Given the description of an element on the screen output the (x, y) to click on. 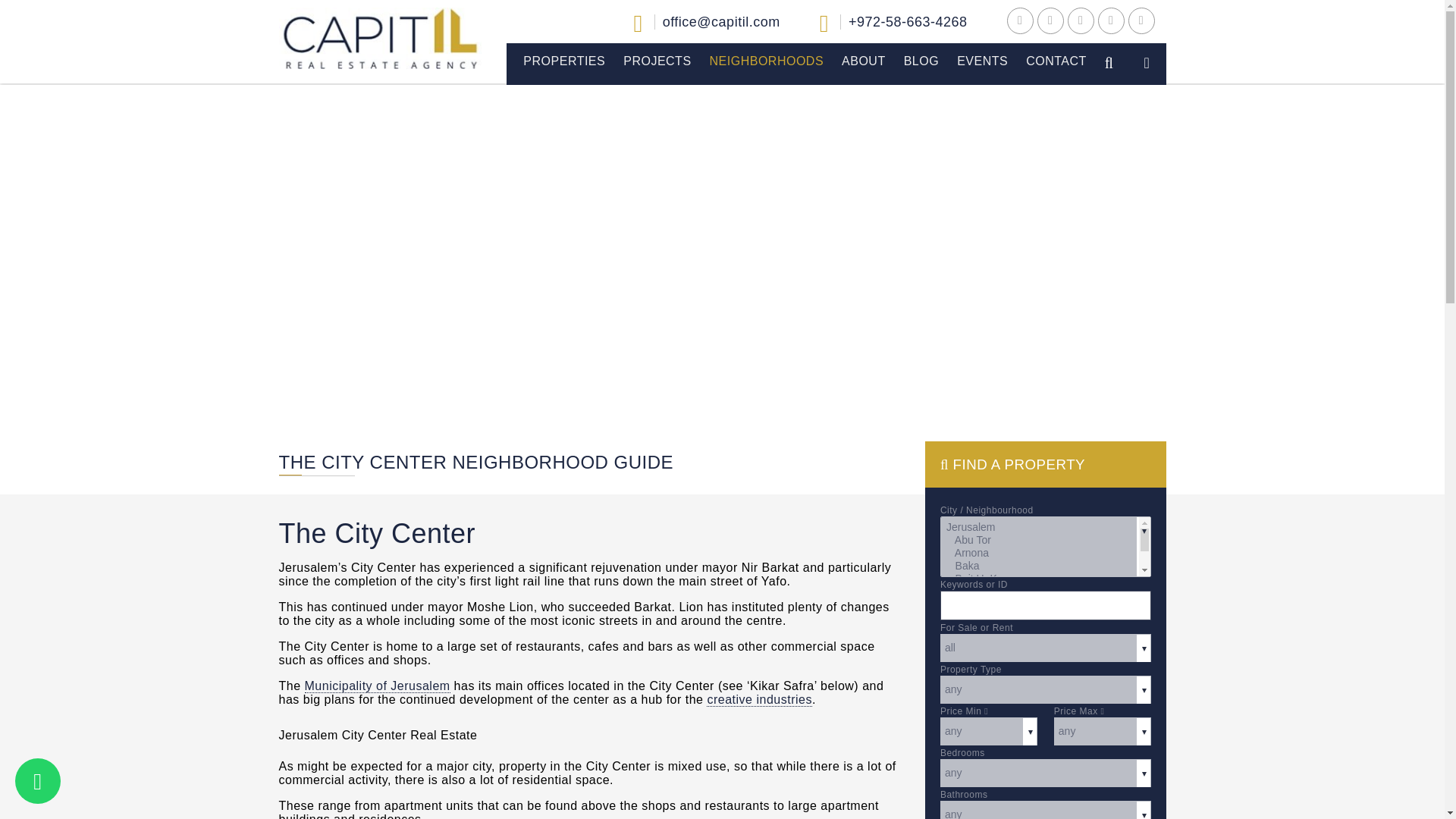
PROPERTIES (563, 61)
PROJECTS (657, 61)
NEIGHBORHOODS (766, 61)
